Given the description of an element on the screen output the (x, y) to click on. 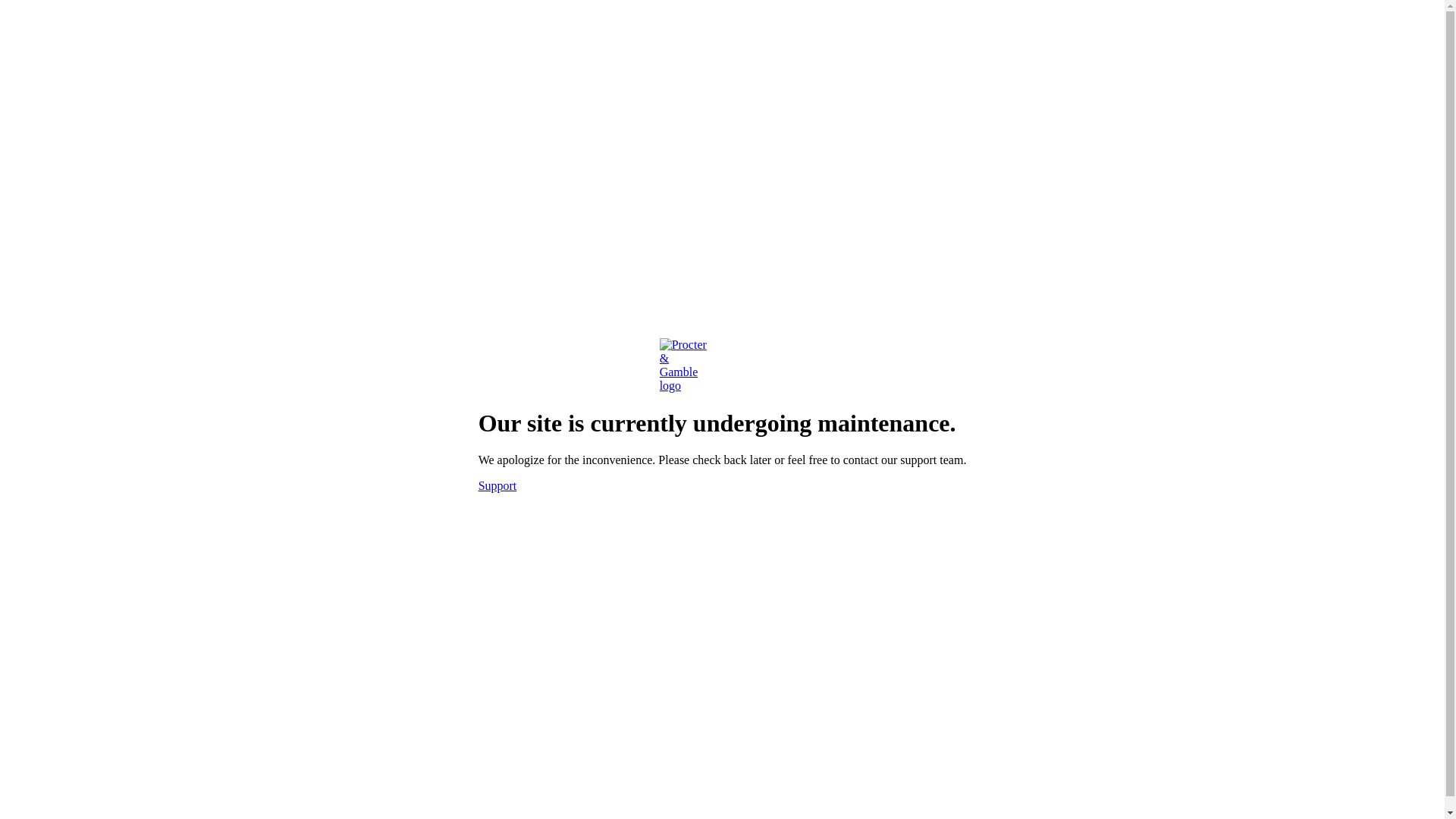
Support Element type: text (497, 485)
